Given the description of an element on the screen output the (x, y) to click on. 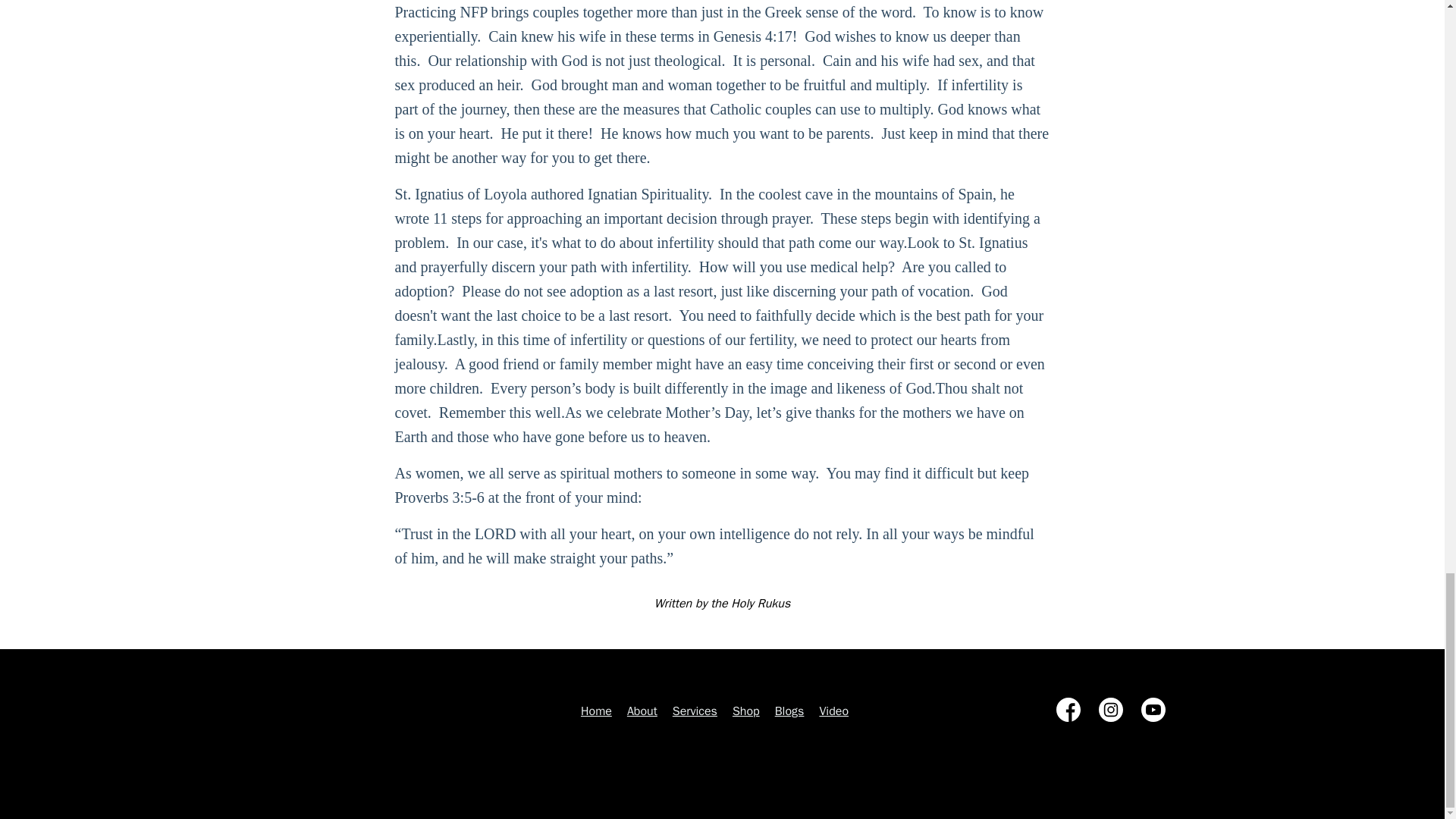
About (642, 710)
Shop (746, 710)
Services (694, 710)
Home (595, 710)
Blogs (789, 710)
Video (833, 710)
